Given the description of an element on the screen output the (x, y) to click on. 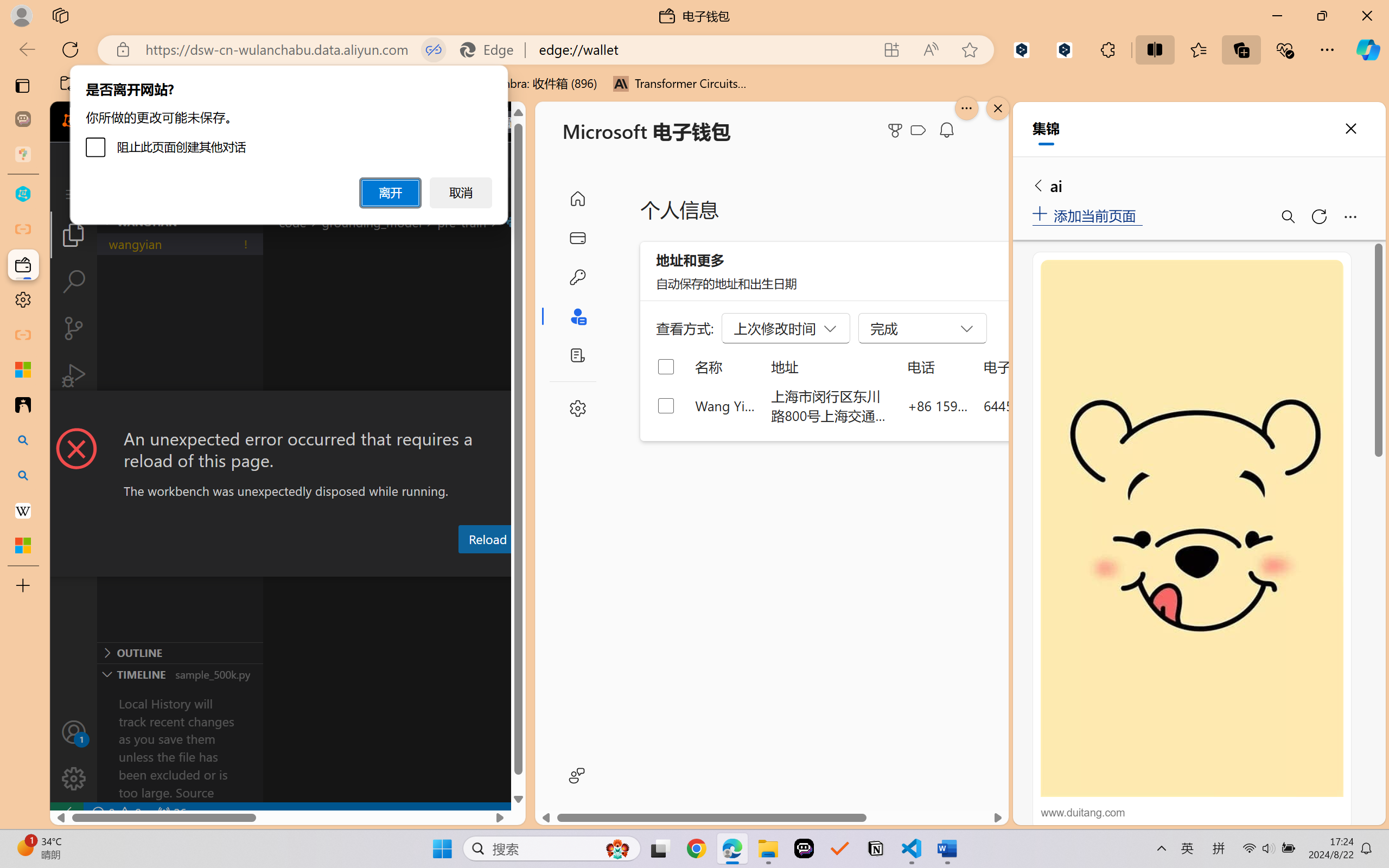
Accounts - Sign in requested (73, 732)
Run and Debug (Ctrl+Shift+D) (73, 375)
